Given the description of an element on the screen output the (x, y) to click on. 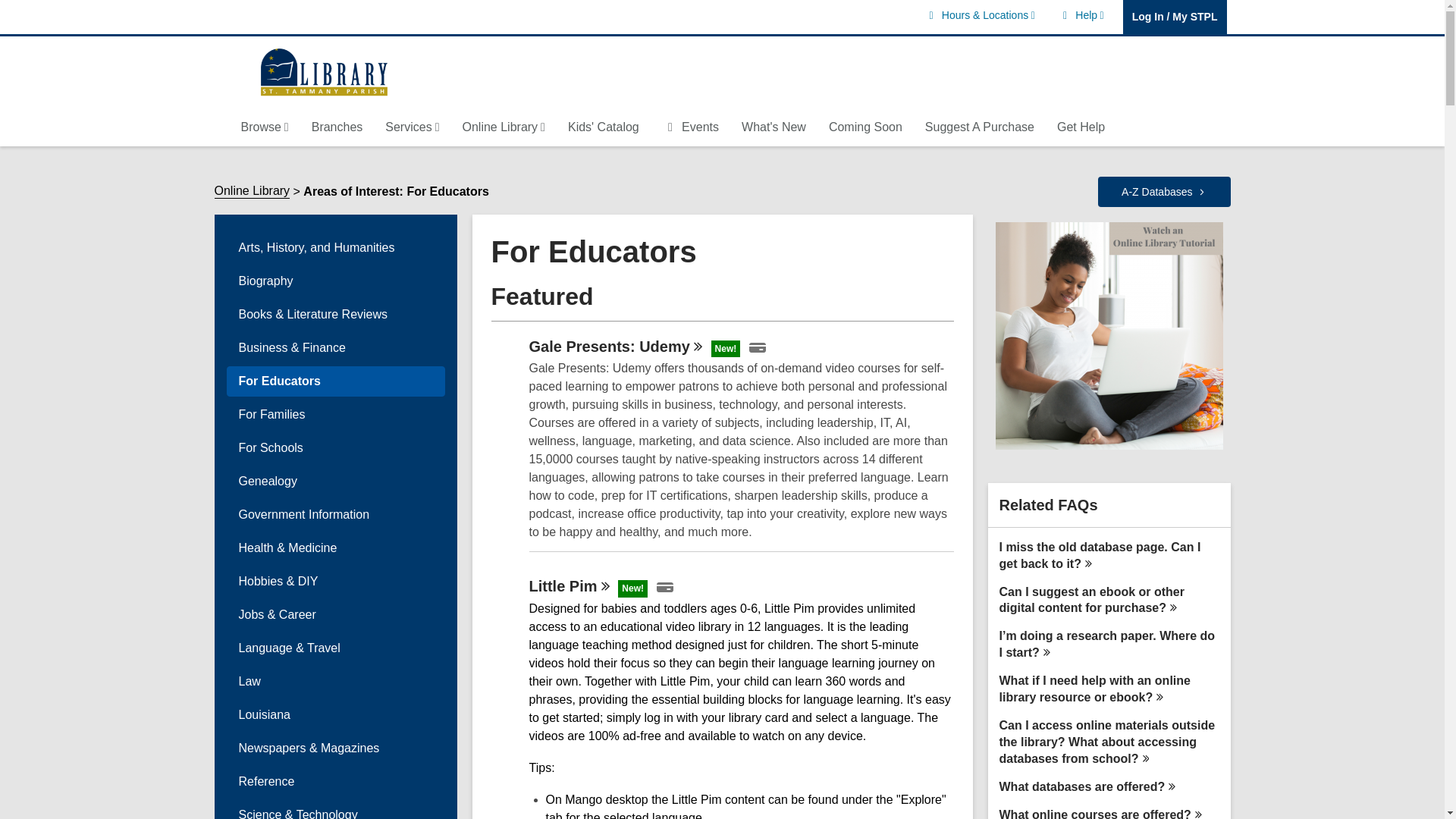
Library Card Required (1081, 15)
Library Card Required (757, 347)
